Given the description of an element on the screen output the (x, y) to click on. 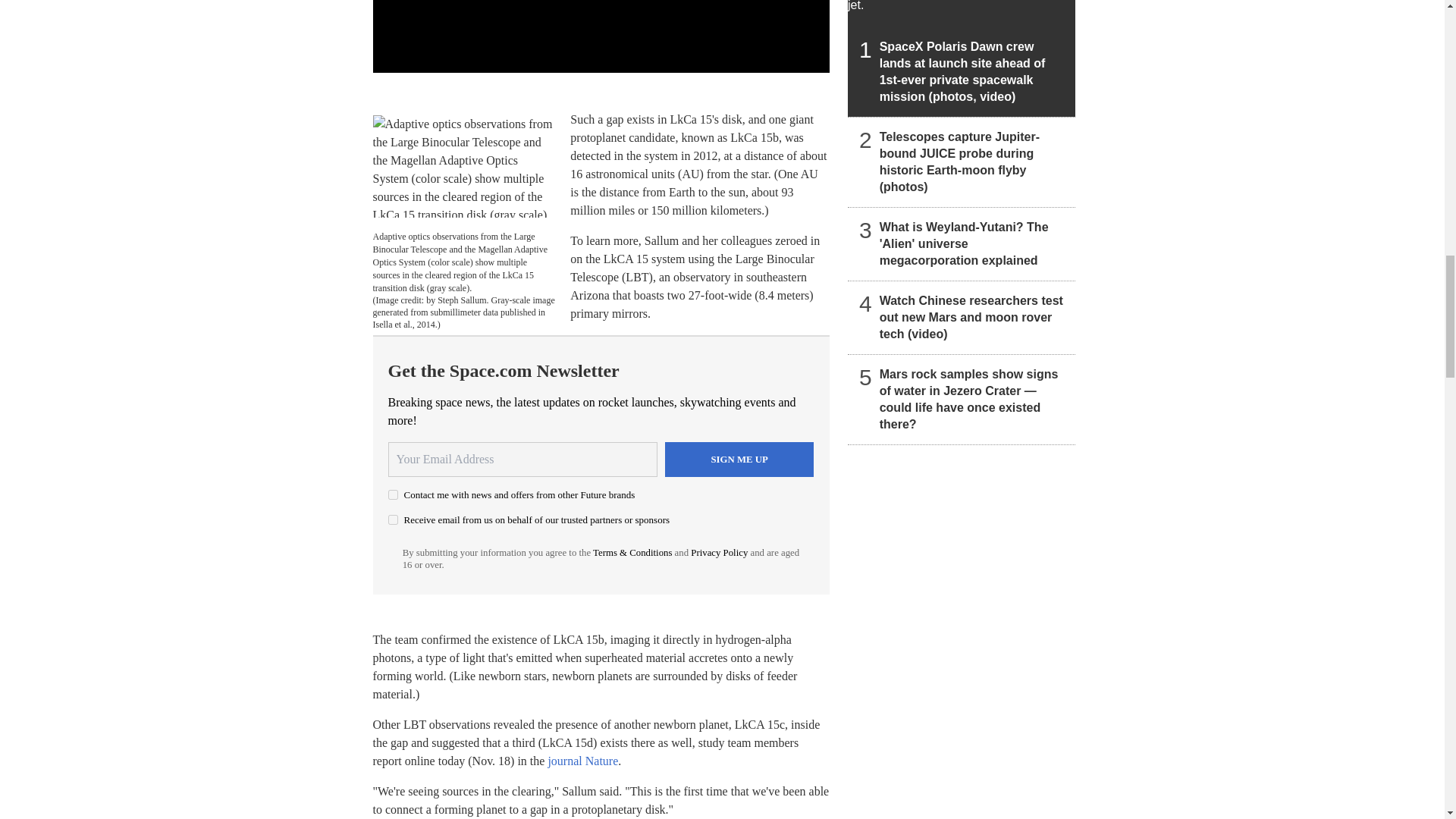
on (392, 519)
on (392, 494)
Sign me up (739, 459)
